Given the description of an element on the screen output the (x, y) to click on. 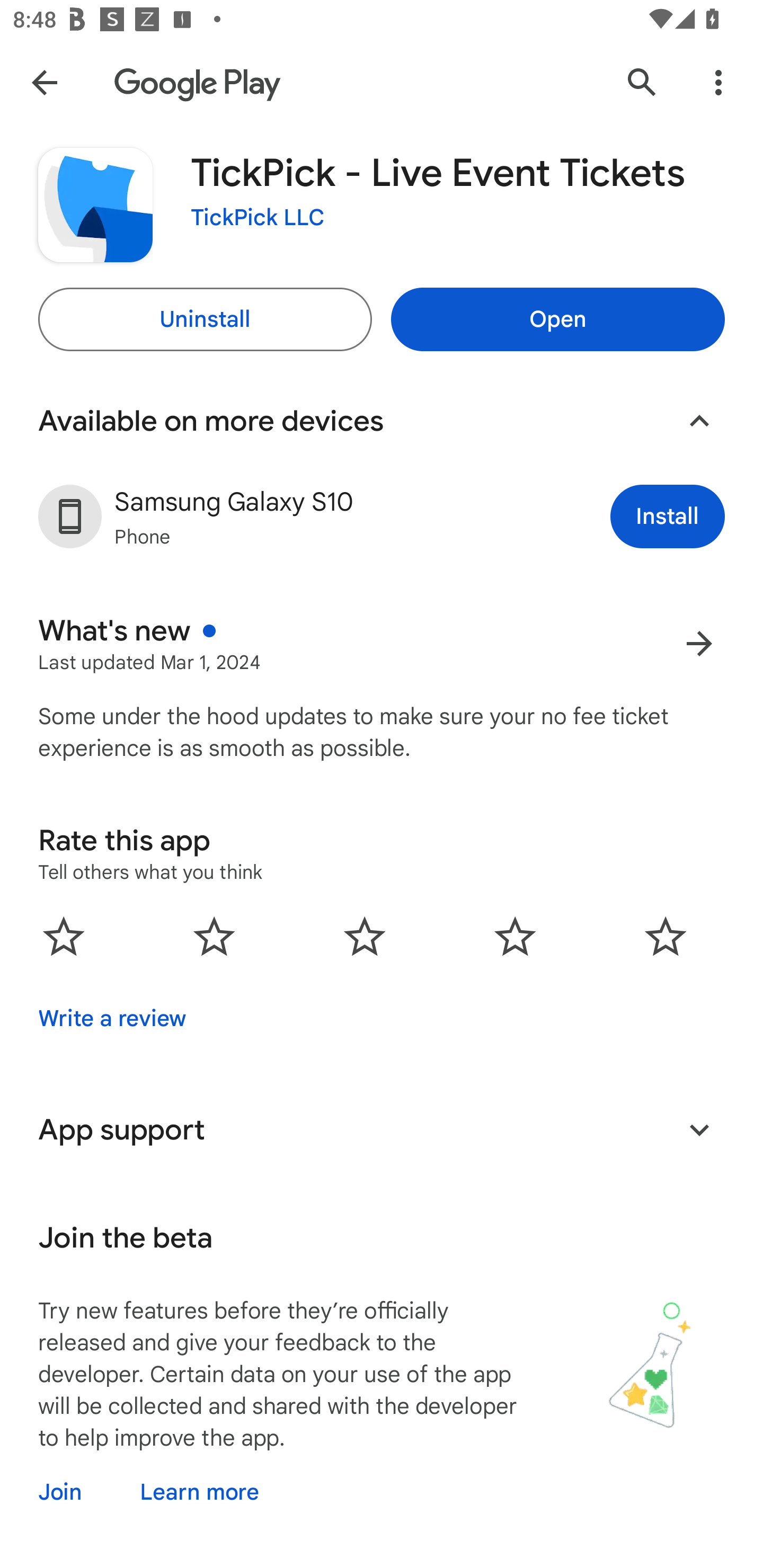
Navigate up (44, 81)
Search Google Play (642, 81)
More Options (718, 81)
TickPick LLC (257, 217)
Uninstall (205, 318)
Open (557, 318)
Available on more devices Collapse (381, 420)
Collapse (699, 420)
Install (667, 516)
More results for What's new (699, 643)
0.0 (364, 935)
Write a review (112, 1018)
App support Expand (381, 1129)
Expand (699, 1129)
Join (76, 1491)
Learn more (199, 1491)
